Given the description of an element on the screen output the (x, y) to click on. 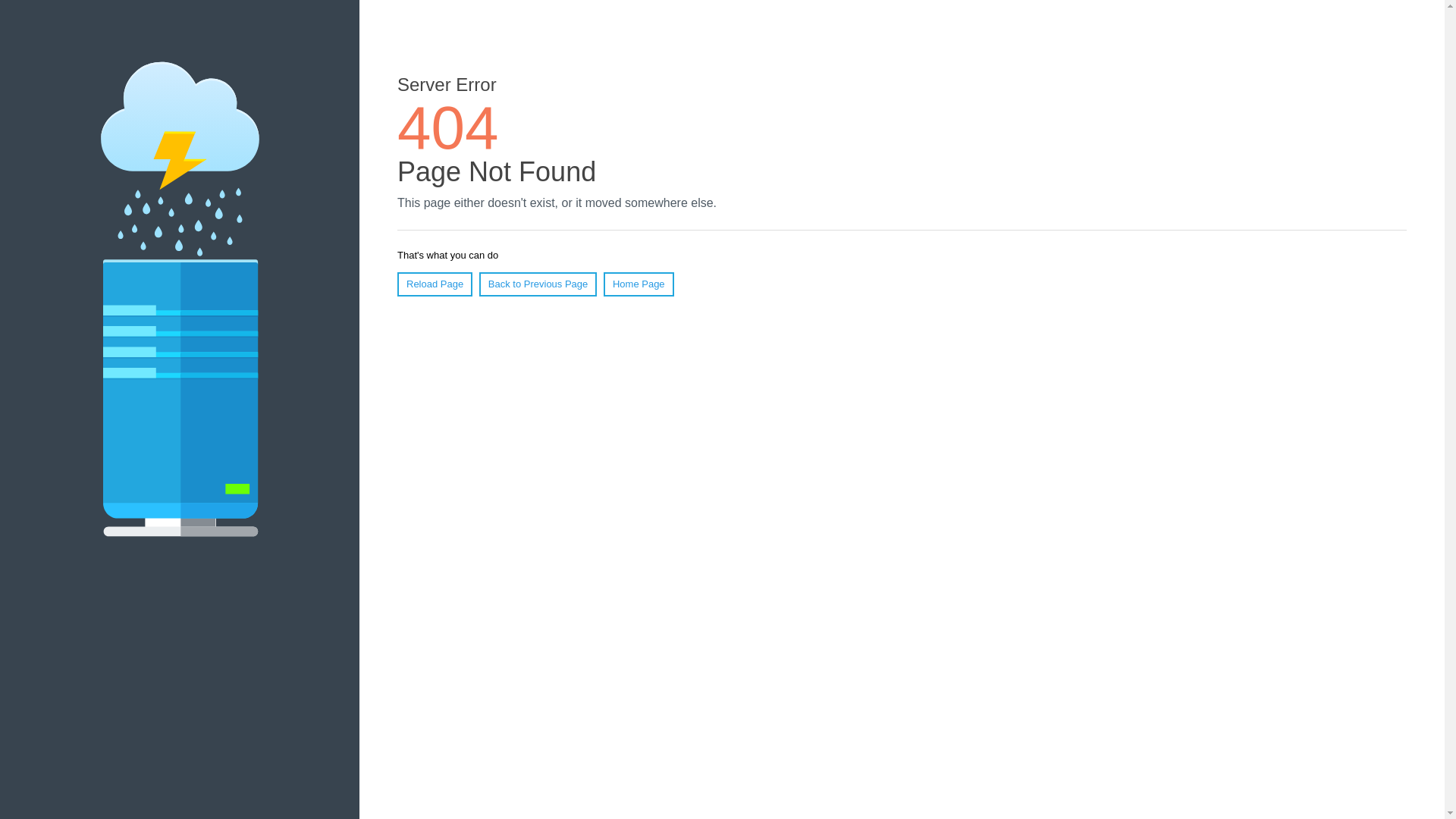
Home Page Element type: text (638, 284)
Reload Page Element type: text (434, 284)
Back to Previous Page Element type: text (538, 284)
